Given the description of an element on the screen output the (x, y) to click on. 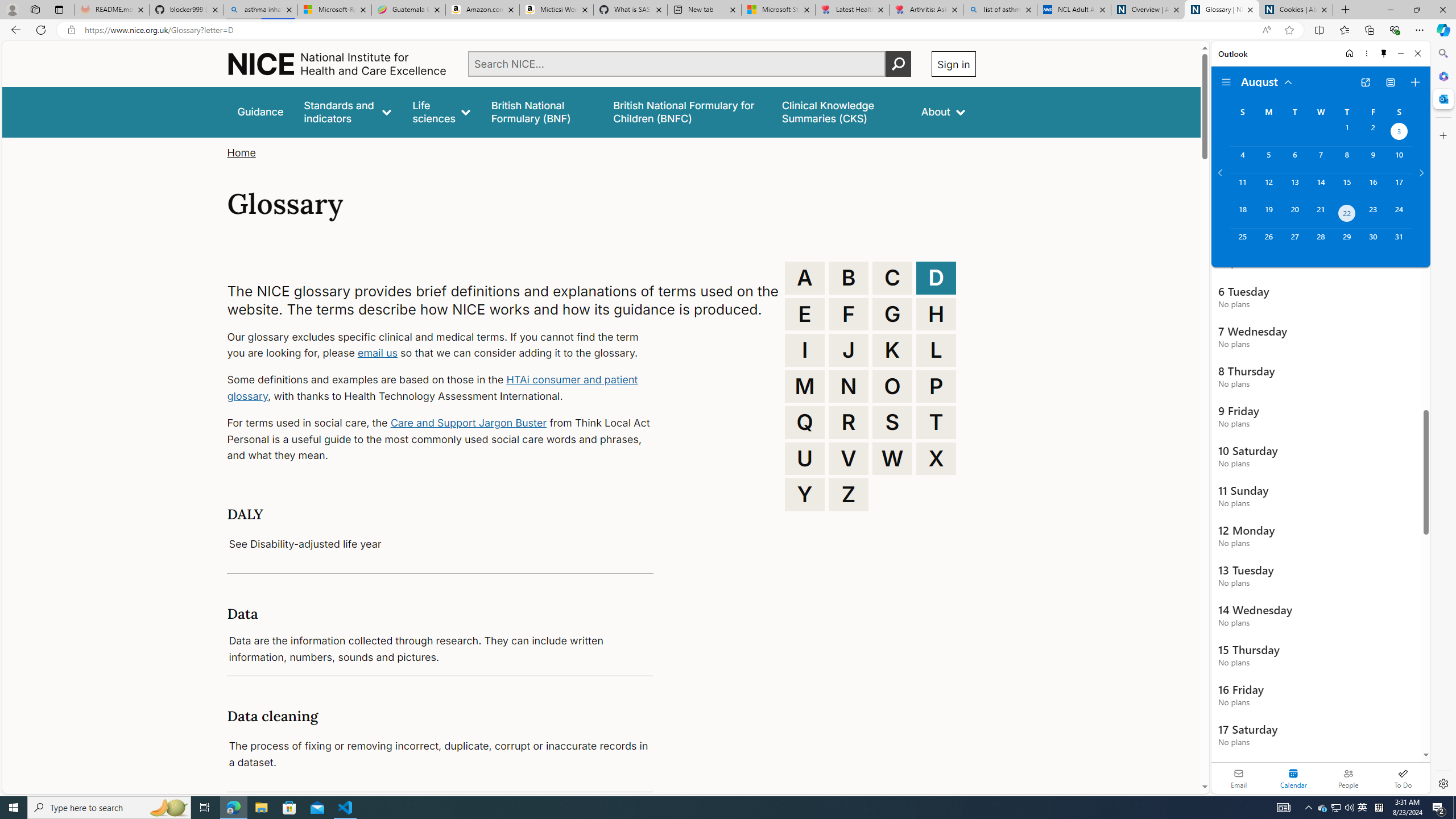
C (892, 277)
G (892, 313)
Friday, August 9, 2024.  (1372, 159)
Tuesday, August 6, 2024.  (1294, 159)
Minimize (1401, 53)
Wednesday, August 28, 2024.  (1320, 241)
A (804, 277)
Browser essentials (1394, 29)
Search (1442, 53)
Thursday, August 22, 2024. Today.  (1346, 214)
